Given the description of an element on the screen output the (x, y) to click on. 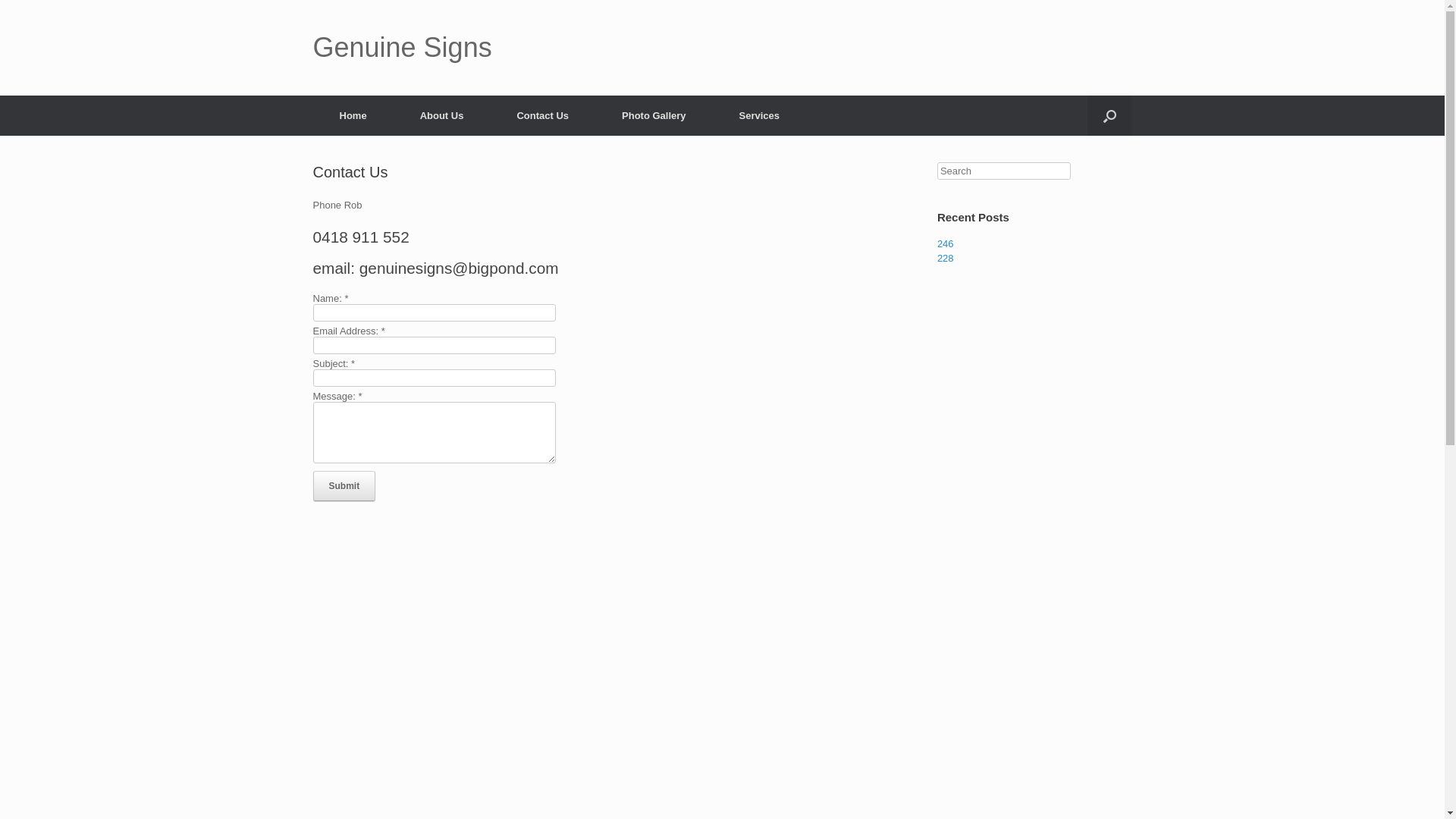
Home Element type: text (352, 115)
228 Element type: text (945, 257)
Services Element type: text (759, 115)
Photo Gallery Element type: text (653, 115)
About Us Element type: text (441, 115)
Submit Element type: text (343, 485)
246 Element type: text (945, 243)
Contact Us Element type: text (542, 115)
Genuine Signs Element type: text (401, 47)
